Given the description of an element on the screen output the (x, y) to click on. 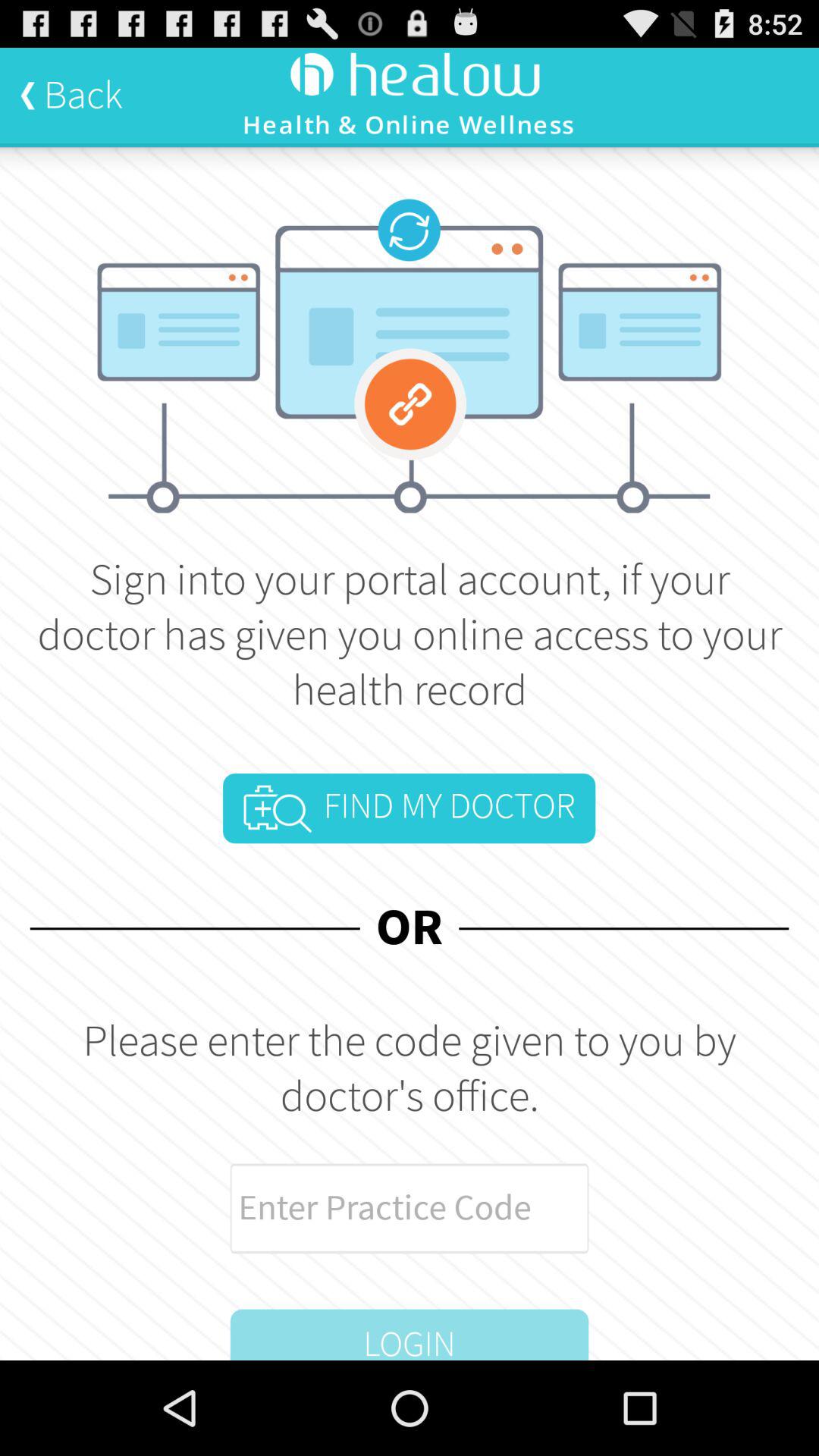
open back (70, 95)
